Given the description of an element on the screen output the (x, y) to click on. 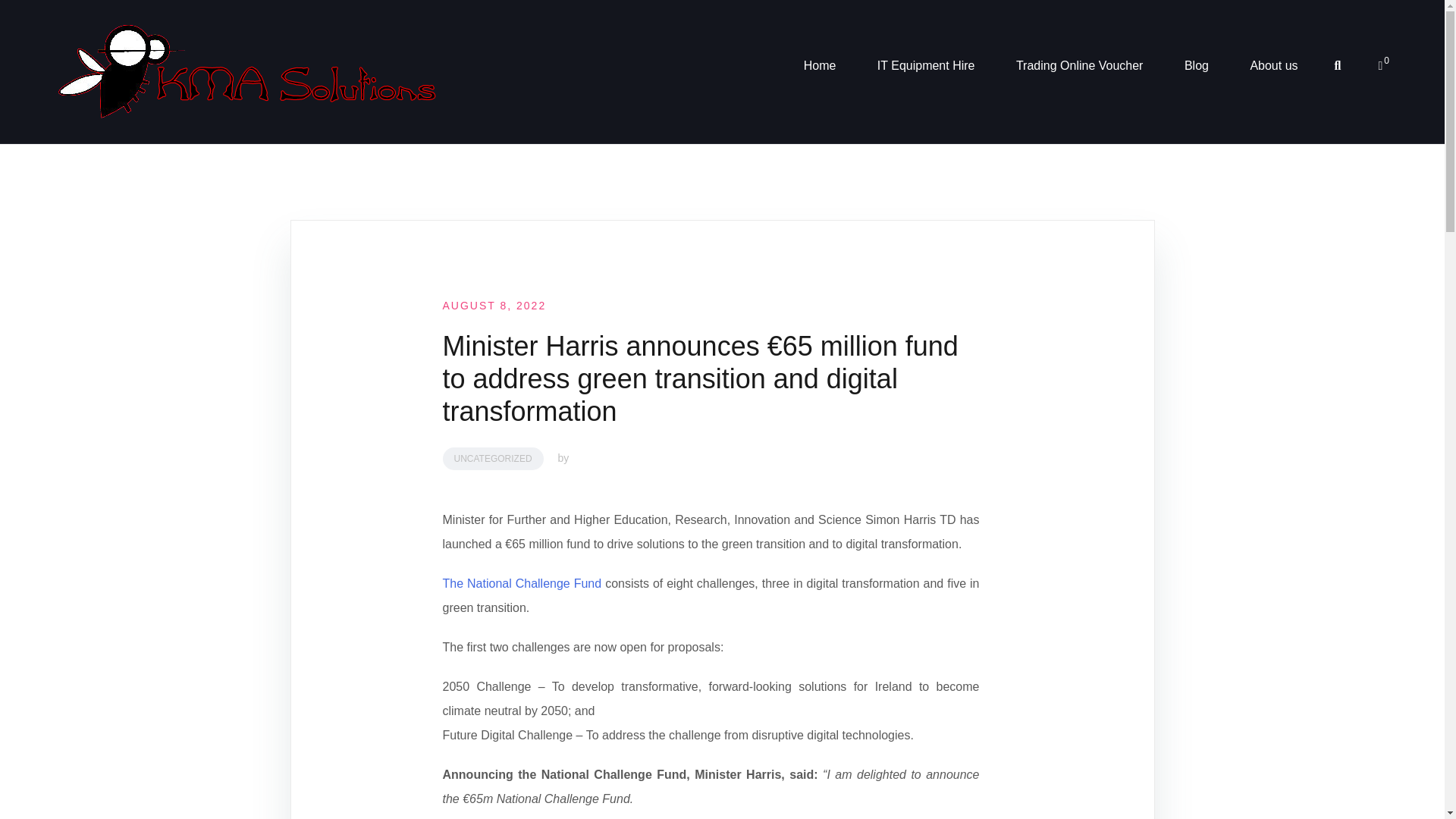
About us (1273, 65)
Trading Online Voucher (1079, 65)
Home (819, 65)
The National Challenge Fund (522, 583)
AUGUST 8, 2022 (494, 305)
IT Equipment Hire (926, 65)
Blog (1196, 65)
UNCATEGORIZED (492, 458)
